Given the description of an element on the screen output the (x, y) to click on. 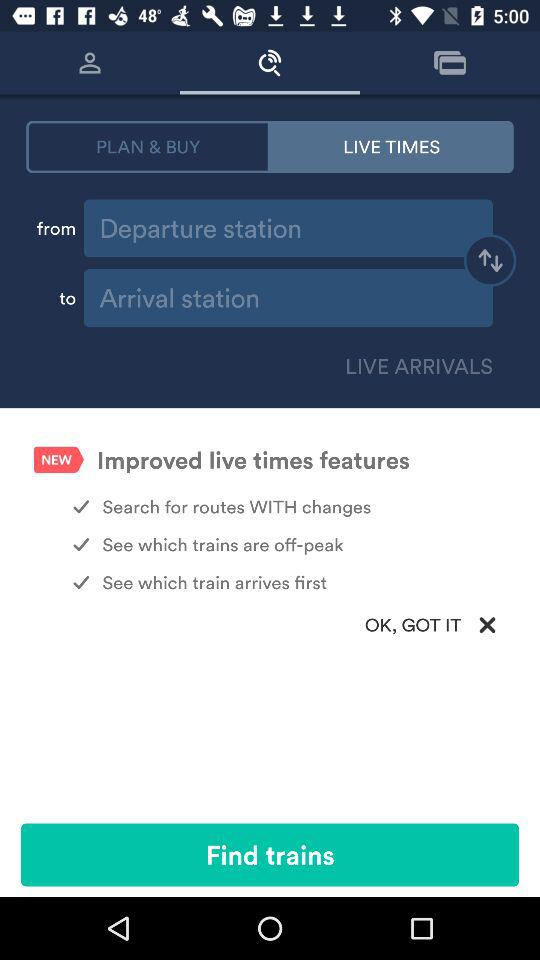
type the departure station (288, 228)
